Given the description of an element on the screen output the (x, y) to click on. 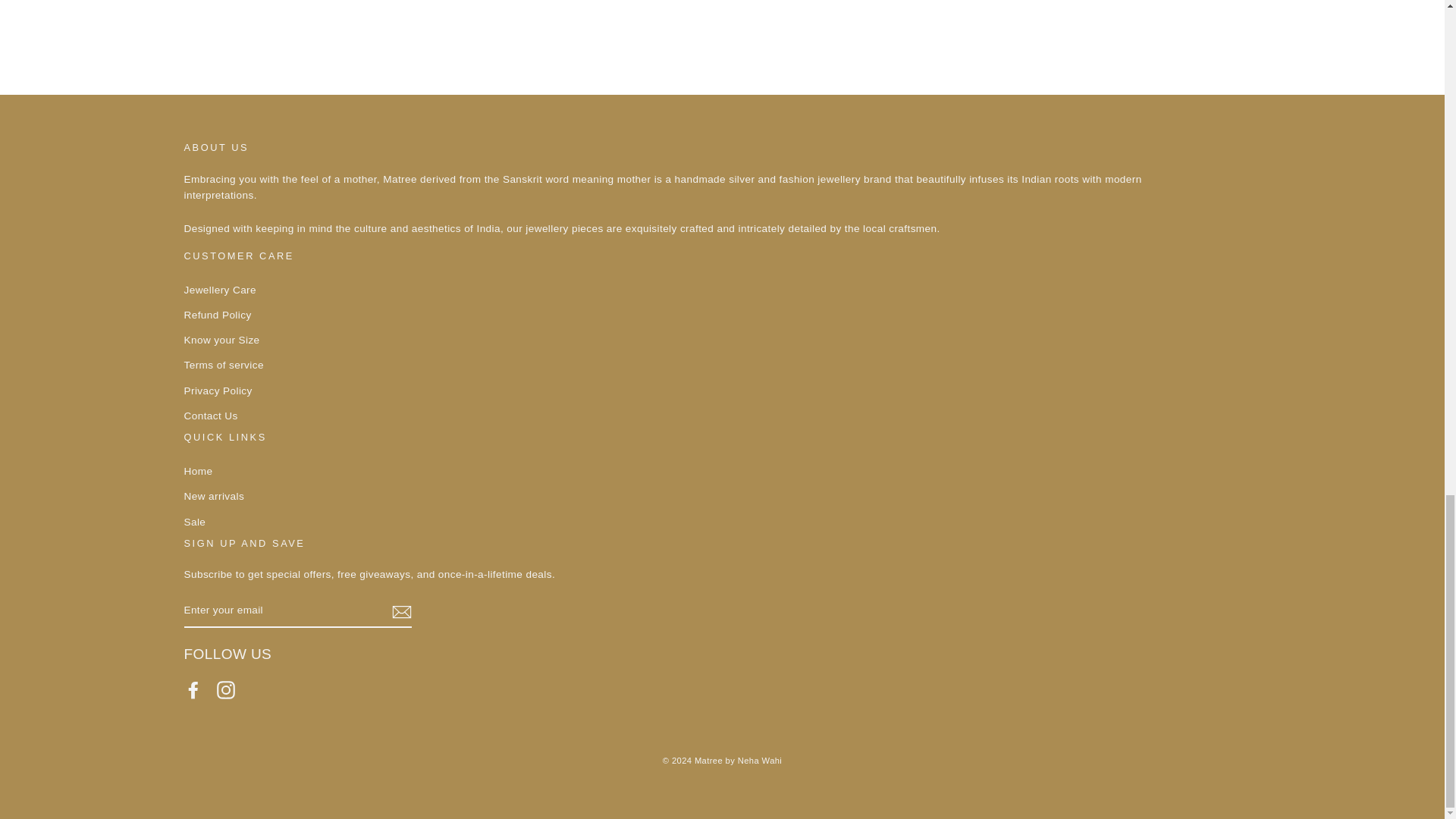
Matree by Neha Wahi on Instagram (225, 689)
Matree by Neha Wahi on Facebook (192, 689)
